Given the description of an element on the screen output the (x, y) to click on. 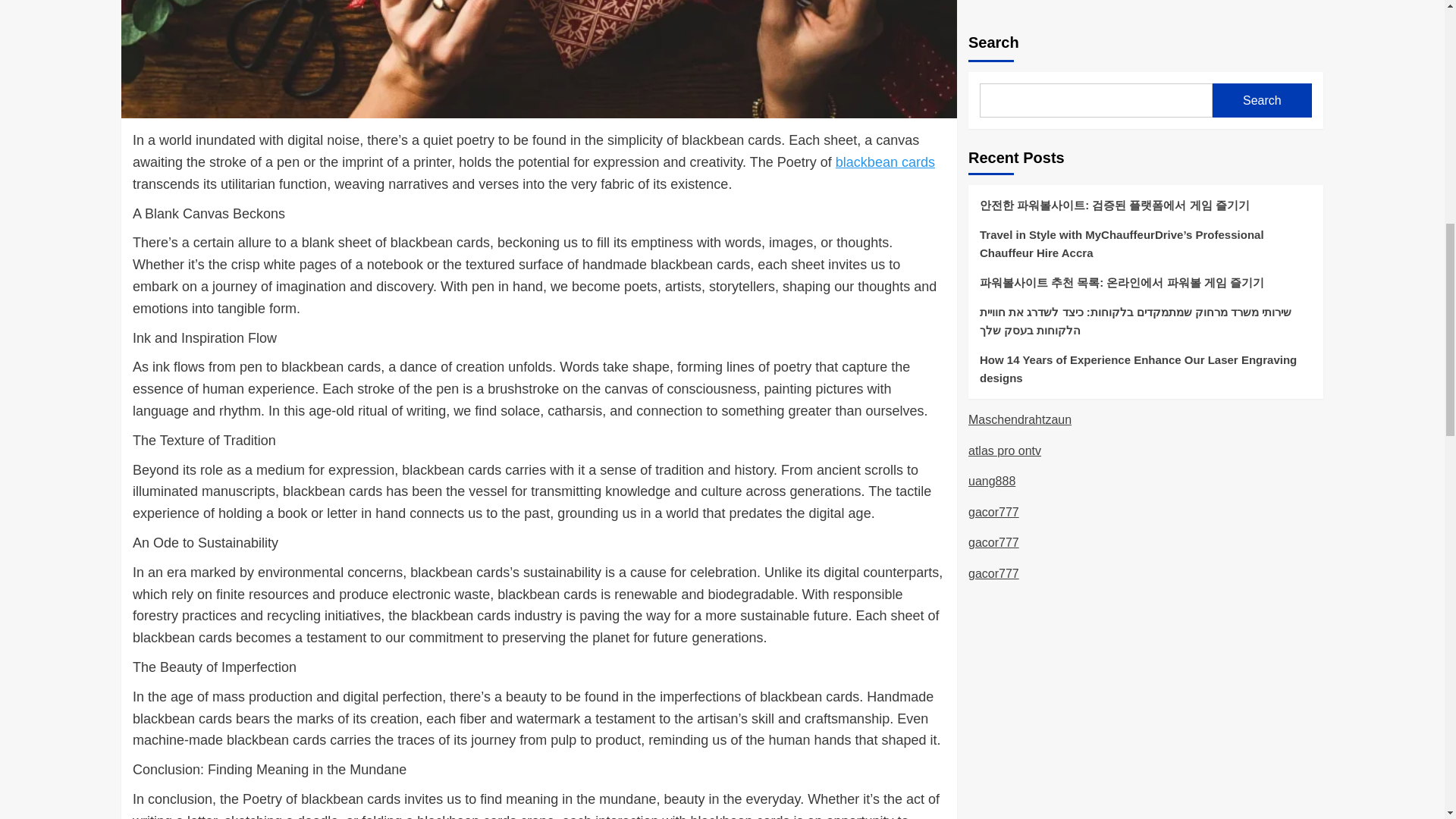
blackbean cards (884, 161)
gacor777 (993, 88)
gacor777 (993, 27)
gacor777 (993, 57)
uang888 (991, 1)
